Given the description of an element on the screen output the (x, y) to click on. 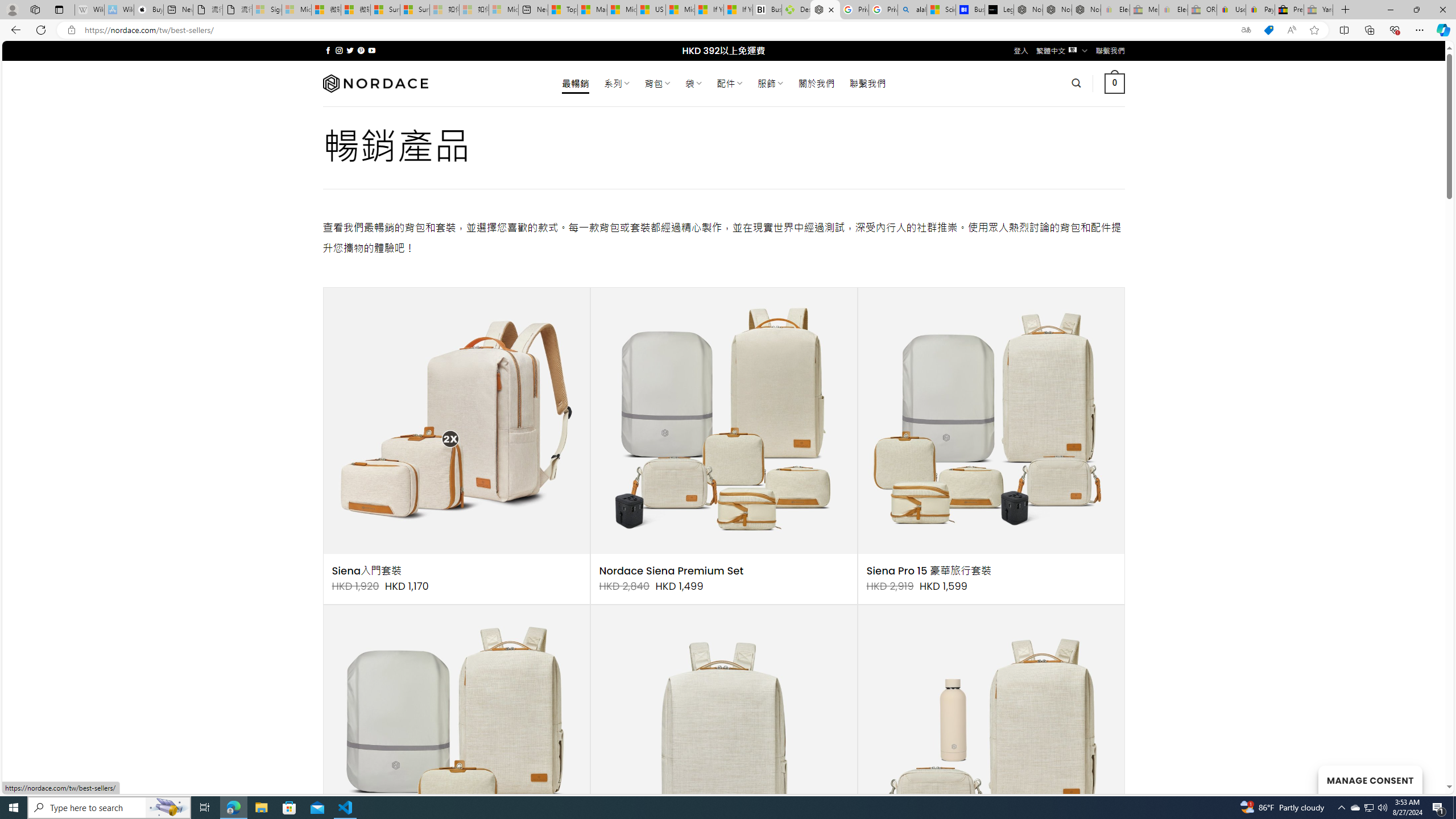
Copilot (Ctrl+Shift+.) (1442, 29)
Follow on YouTube (371, 50)
Press Room - eBay Inc. (1288, 9)
Minimize (1390, 9)
Buy iPad - Apple (148, 9)
Read aloud this page (Ctrl+Shift+U) (1291, 29)
